Given the description of an element on the screen output the (x, y) to click on. 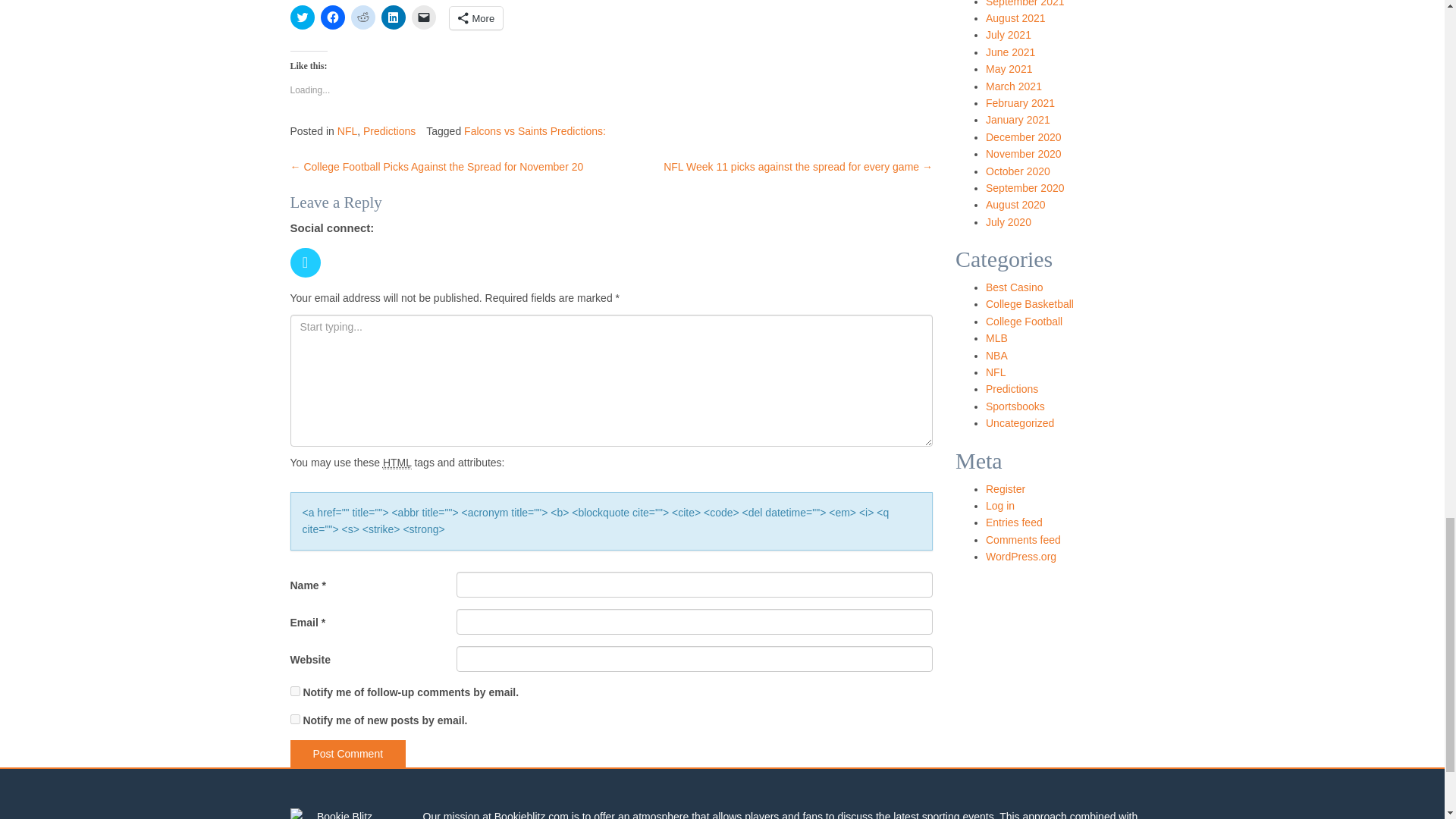
Click to email a link to a friend (422, 16)
subscribe (294, 718)
HyperText Markup Language (397, 462)
Click to share on LinkedIn (392, 16)
Login with twitter (308, 281)
Click to share on Twitter (301, 16)
Click to share on Reddit (362, 16)
Click to share on Facebook (331, 16)
subscribe (294, 691)
Post Comment (347, 753)
